Given the description of an element on the screen output the (x, y) to click on. 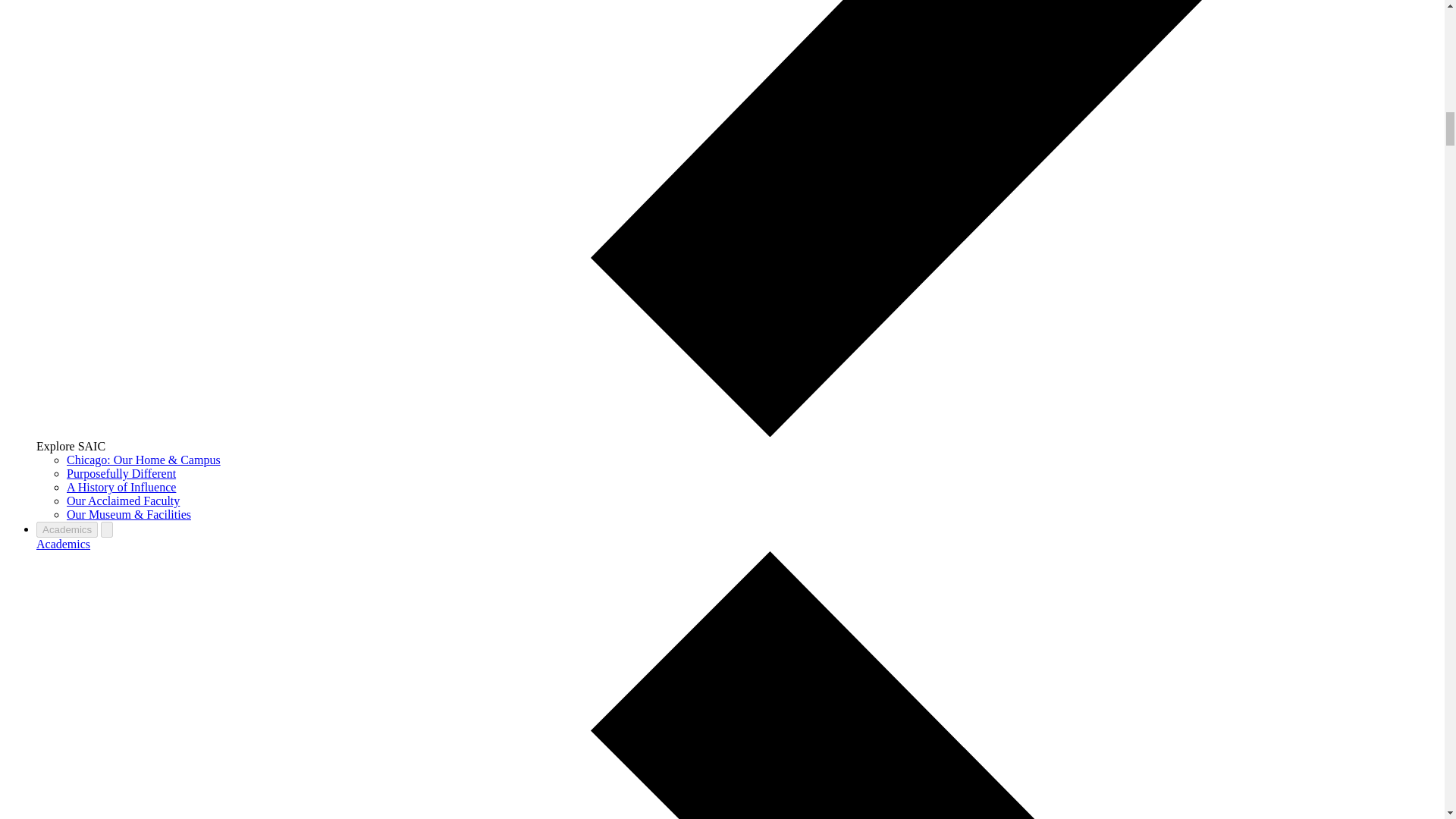
Academics (66, 529)
A History of Influence (121, 486)
Purposefully Different (121, 472)
Academics (63, 543)
Our Acclaimed Faculty (122, 500)
